Given the description of an element on the screen output the (x, y) to click on. 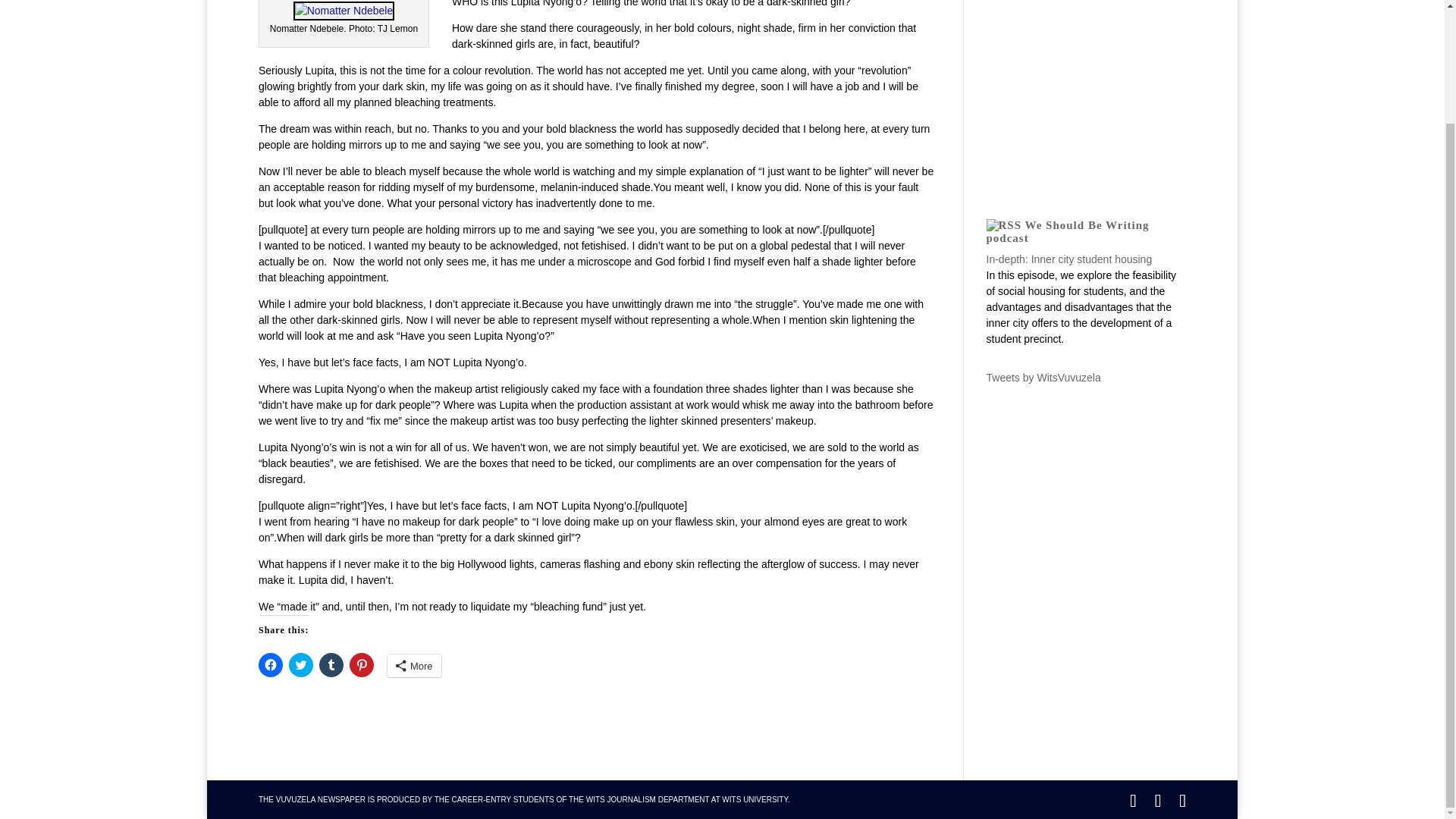
Tweets by WitsVuvuzela (1042, 377)
More (414, 665)
Click to share on Twitter (300, 664)
We Should Be Writing podcast (1066, 231)
Click to share on Tumblr (330, 664)
In-depth: Inner city student housing (1068, 259)
Click to share on Facebook (270, 664)
Click to share on Pinterest (361, 664)
